Given the description of an element on the screen output the (x, y) to click on. 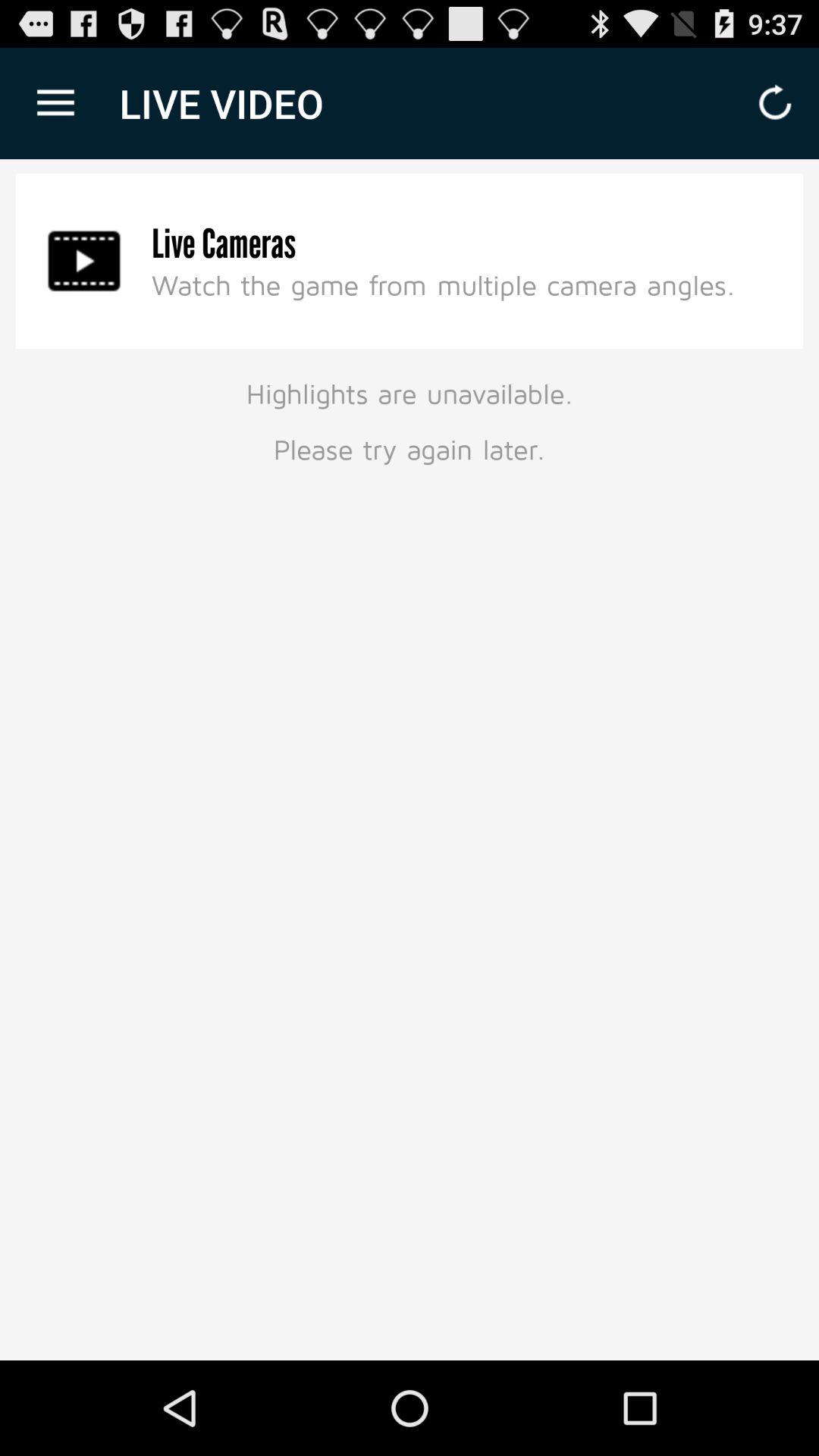
tap item above highlights are unavailable item (83, 260)
